Given the description of an element on the screen output the (x, y) to click on. 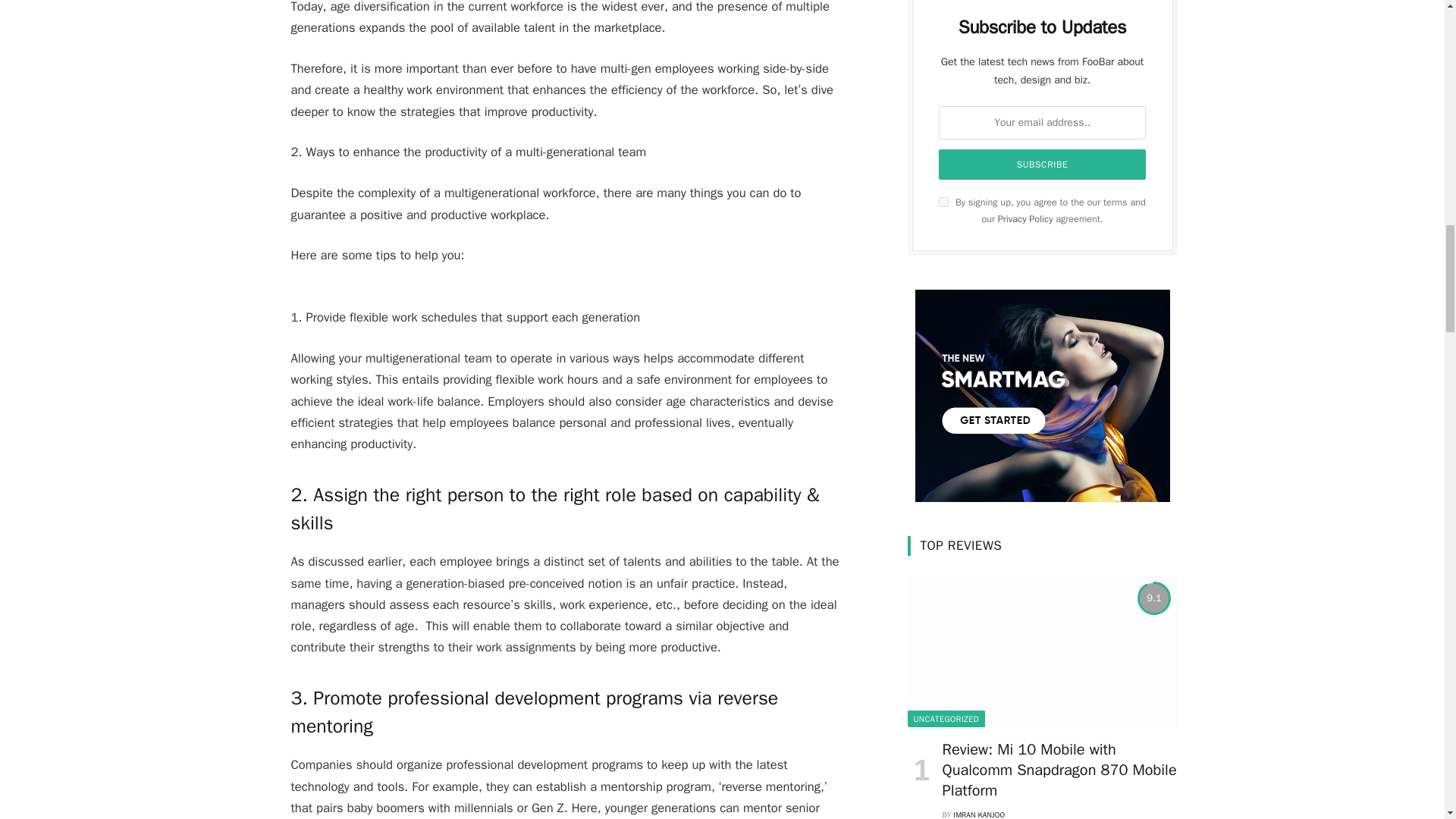
Subscribe (1043, 164)
on (944, 202)
